Given the description of an element on the screen output the (x, y) to click on. 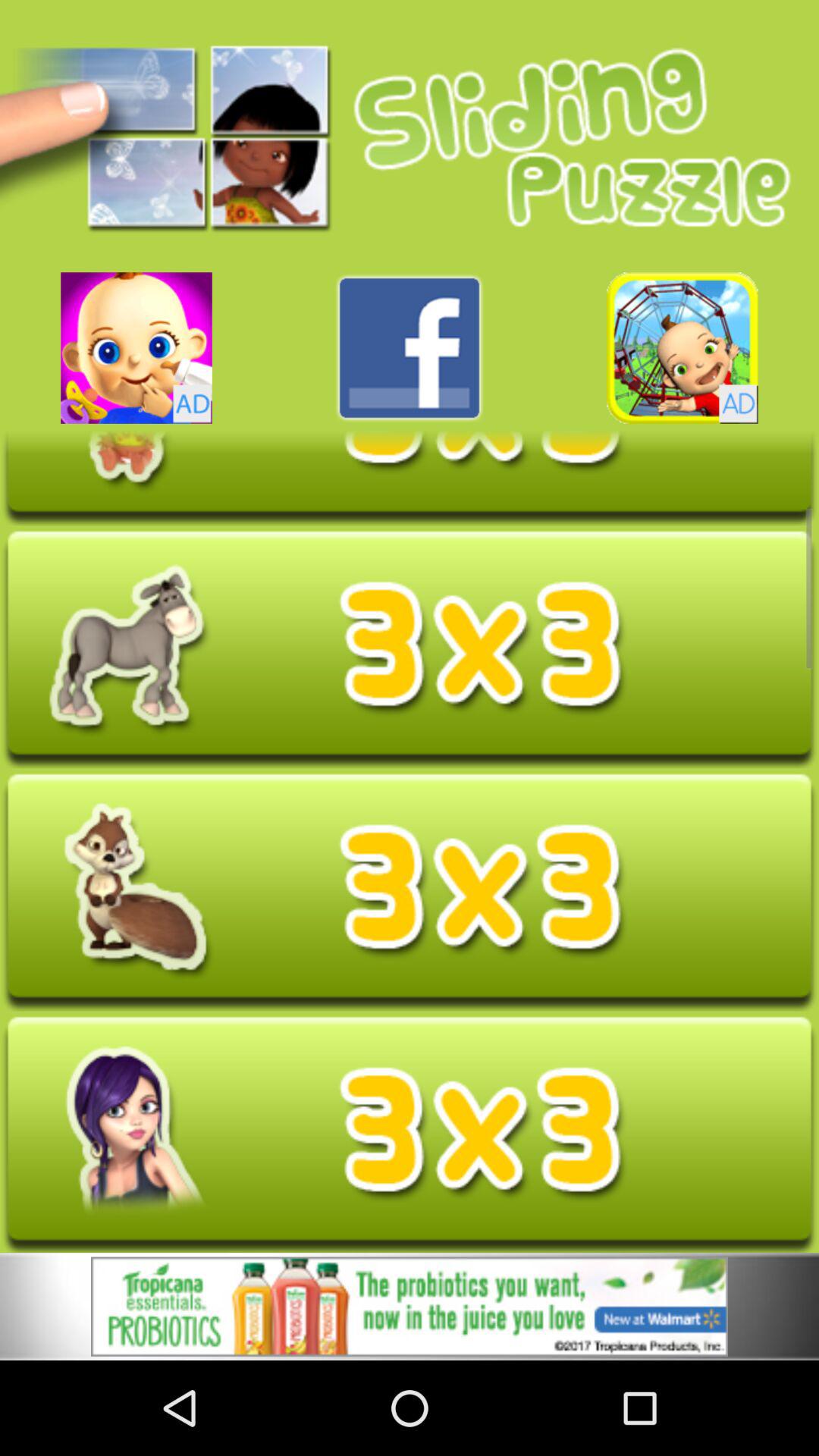
press facebook link buttom (409, 347)
